Given the description of an element on the screen output the (x, y) to click on. 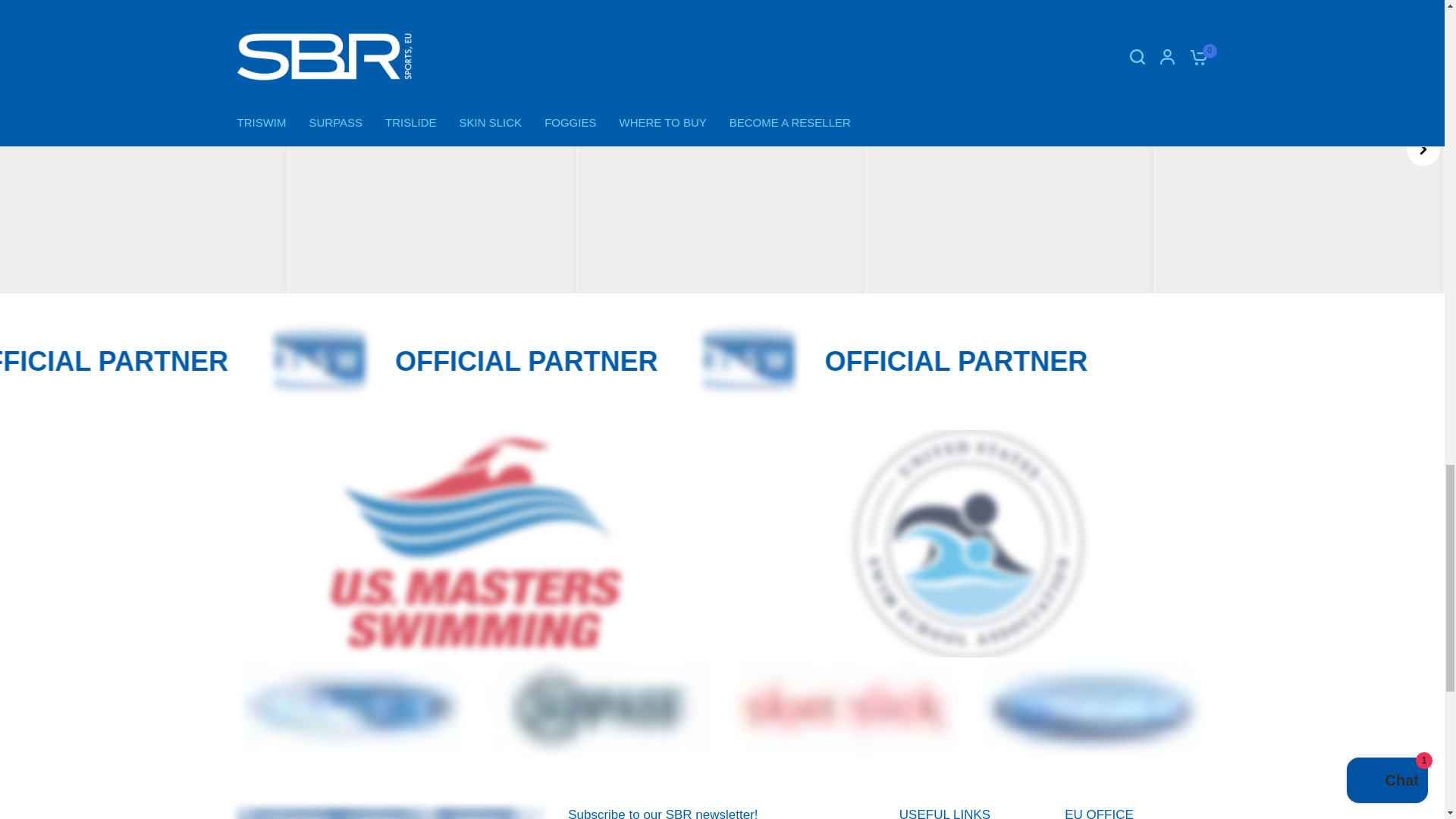
OFFICIAL PARTNER (581, 361)
OFFICIAL PARTNER (1008, 361)
